Given the description of an element on the screen output the (x, y) to click on. 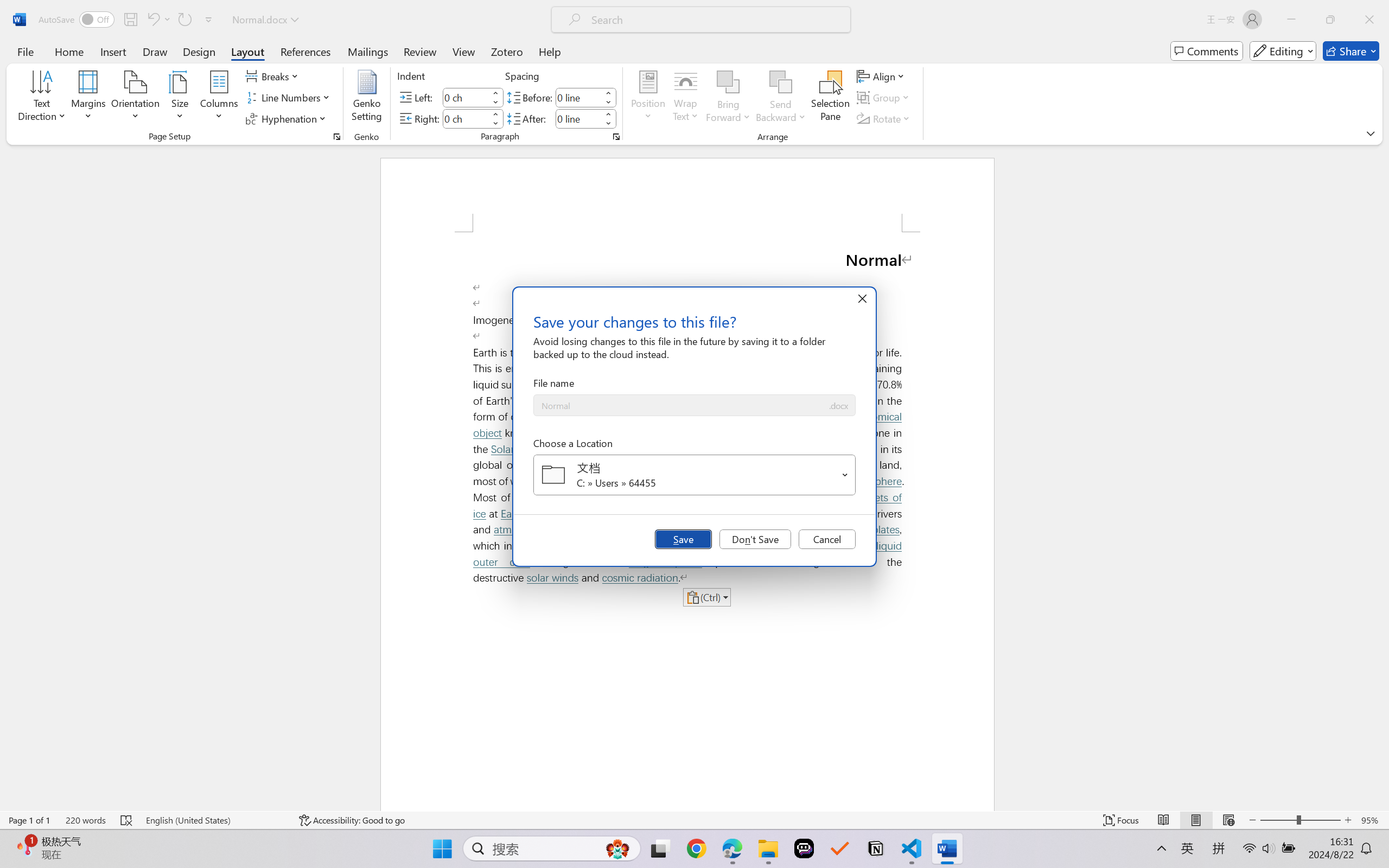
Paragraph... (615, 136)
Spacing After (578, 118)
Indent Right (465, 118)
Help (549, 51)
Google Chrome (696, 848)
Text Direction (42, 97)
Columns (219, 97)
More (608, 113)
